Given the description of an element on the screen output the (x, y) to click on. 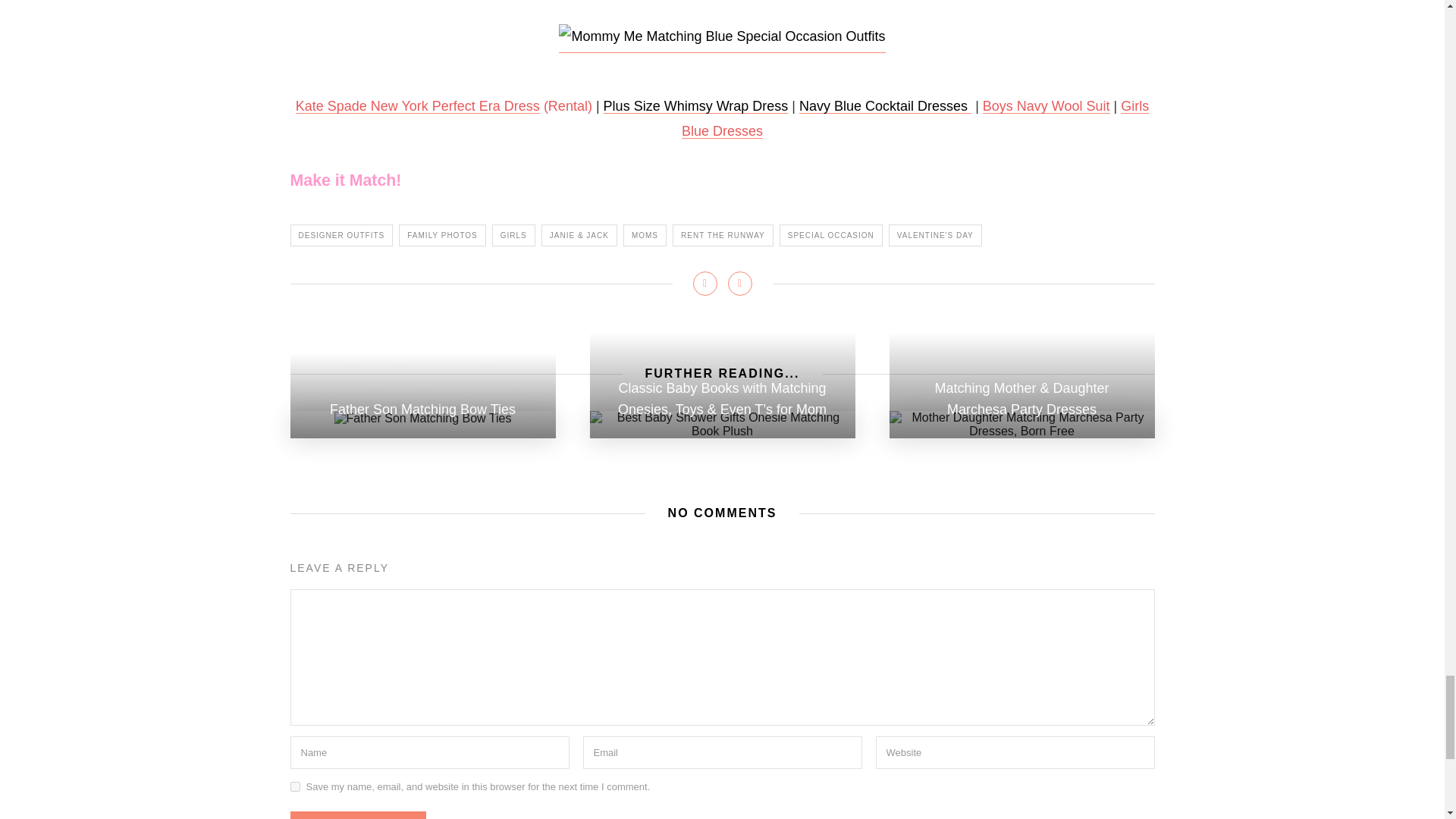
Mommy Me Matching Blue Special Occasion Outfits (722, 36)
yes (294, 786)
Post Comment (357, 815)
